Given the description of an element on the screen output the (x, y) to click on. 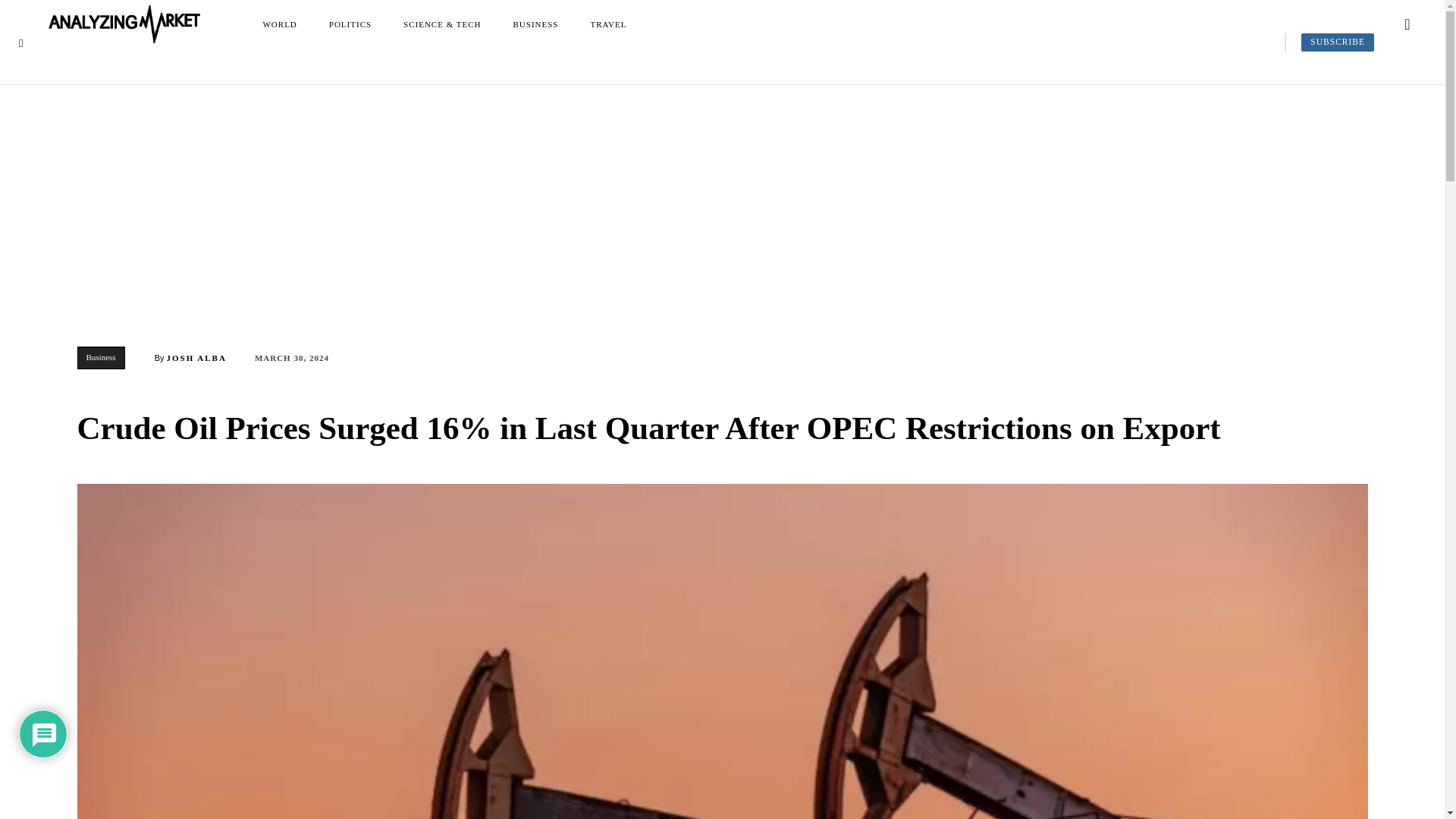
SUBSCRIBE (1337, 42)
